Given the description of an element on the screen output the (x, y) to click on. 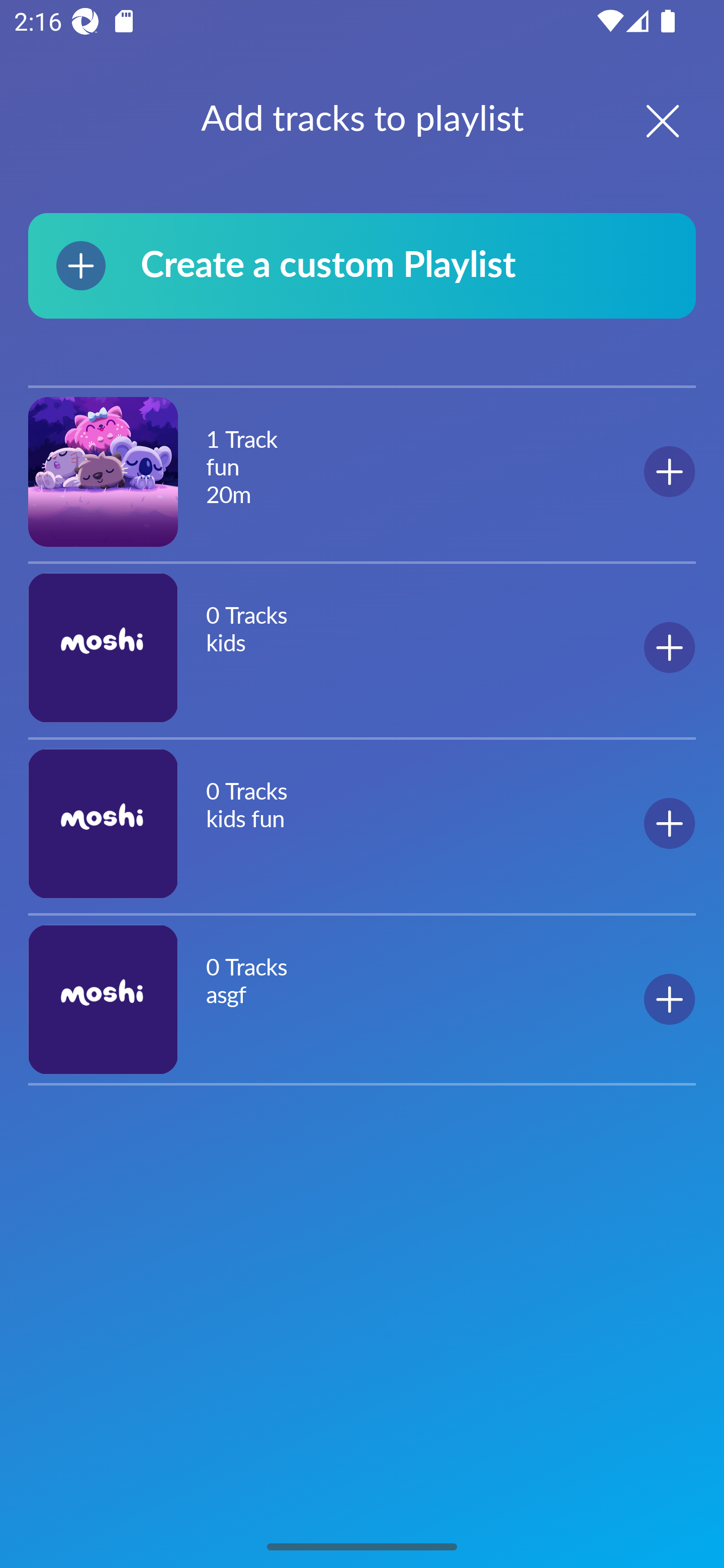
Close (645, 120)
Create a custom Playlist (361, 265)
1 Track fun 20m (361, 471)
0 Tracks kids (361, 647)
0 Tracks kids fun (361, 823)
0 Tracks asgf (361, 998)
